Given the description of an element on the screen output the (x, y) to click on. 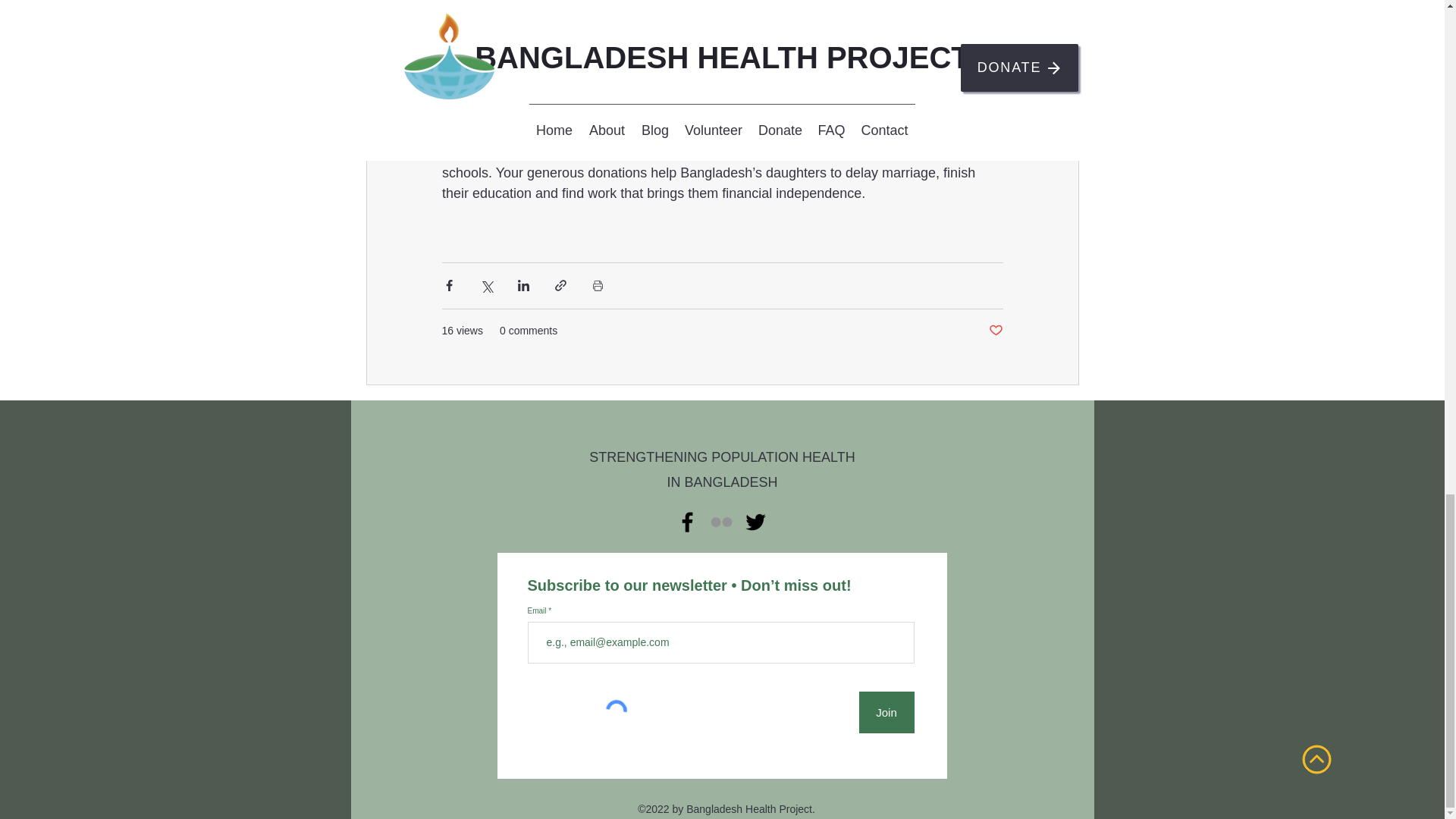
must decide how much they should invest (709, 18)
who should make that decision (674, 49)
Join (886, 712)
Post not marked as liked (995, 330)
an uncertain future reward (890, 29)
